Given the description of an element on the screen output the (x, y) to click on. 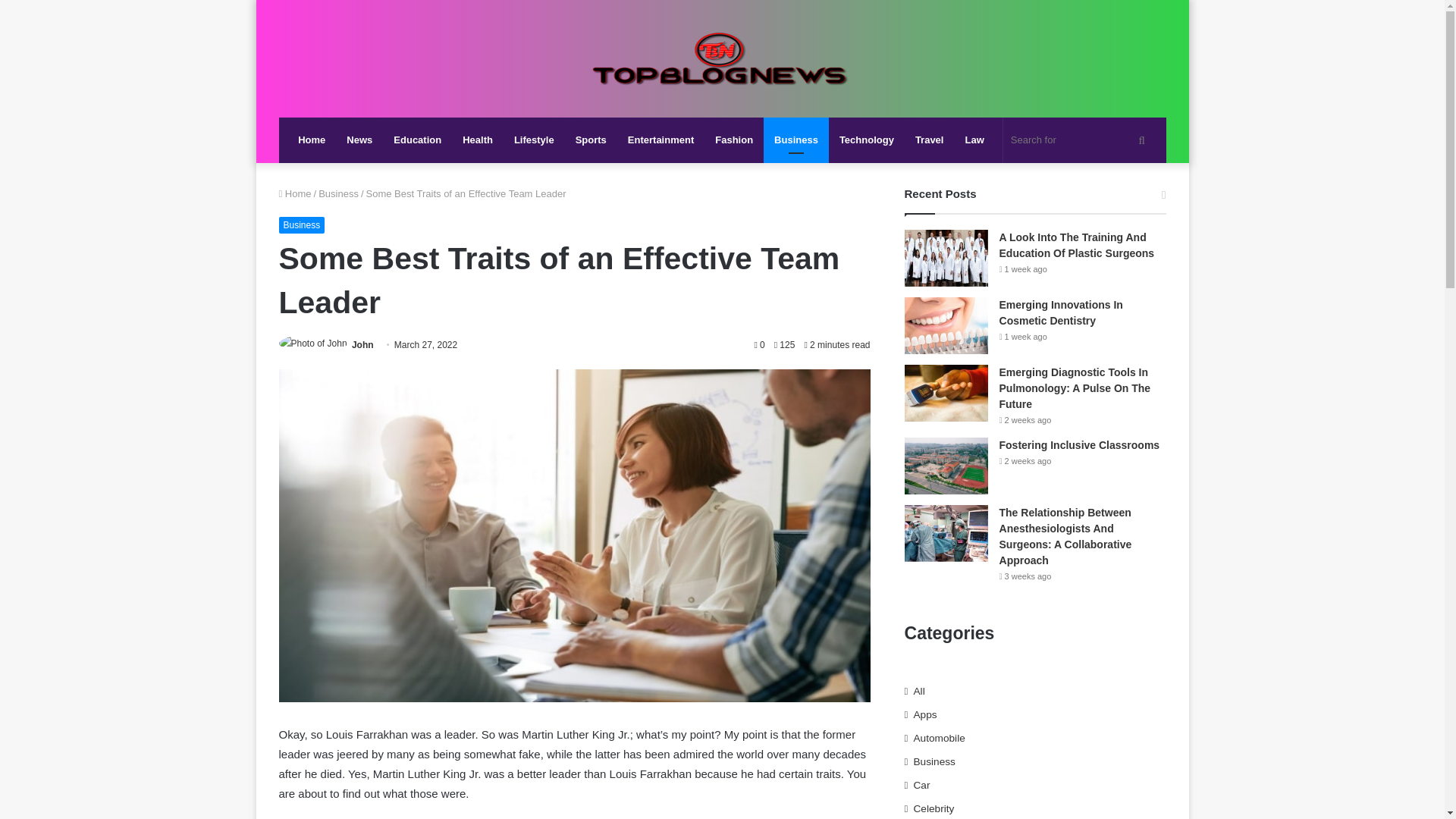
News (359, 139)
Sports (590, 139)
Business (795, 139)
Health (477, 139)
Education (416, 139)
Topblognews.Com (722, 58)
Business (301, 225)
Home (295, 193)
John (363, 344)
Technology (866, 139)
Home (311, 139)
John (363, 344)
Entertainment (660, 139)
Travel (929, 139)
Fashion (733, 139)
